Given the description of an element on the screen output the (x, y) to click on. 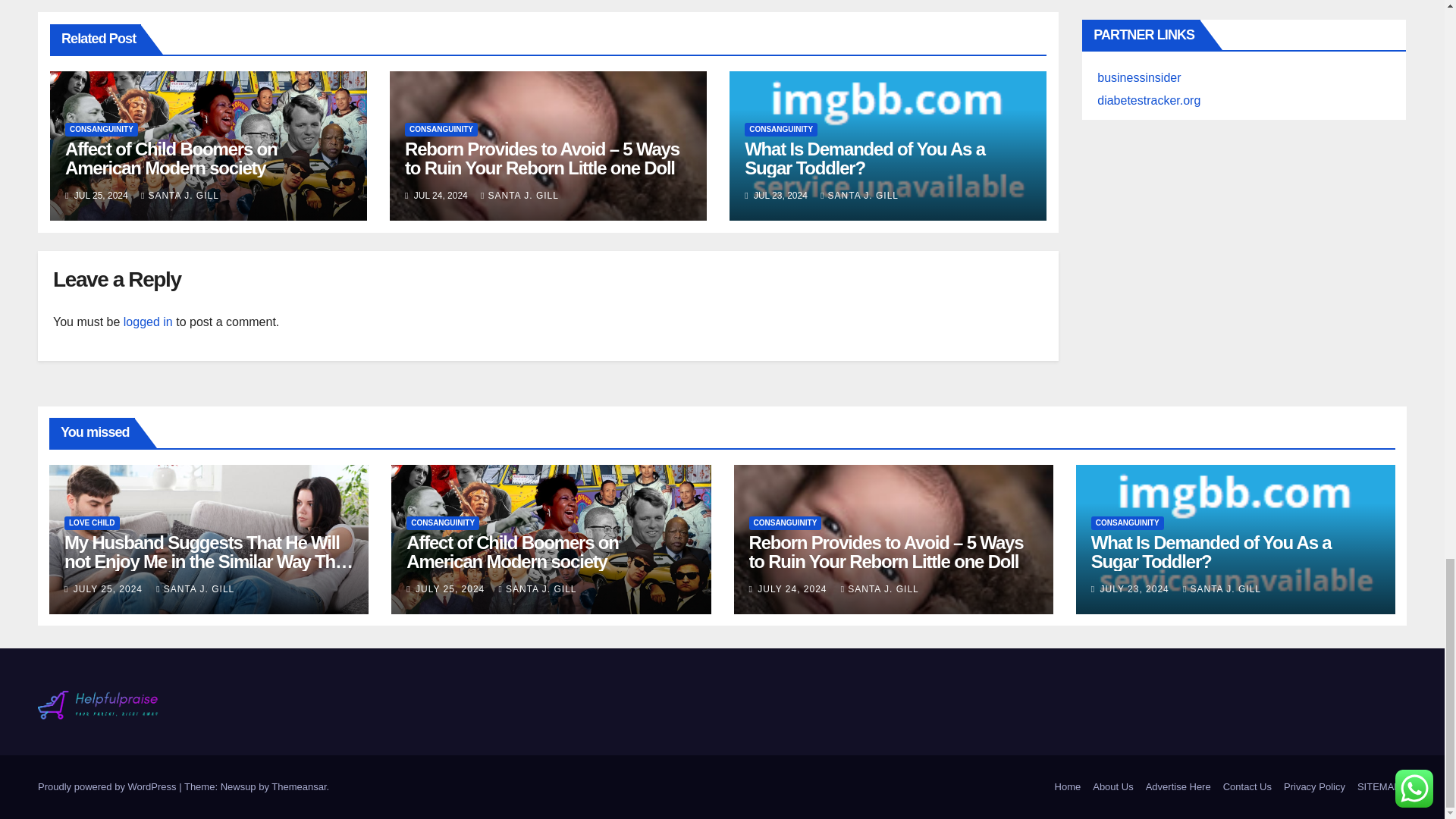
Affect of Child Boomers on American Modern society (170, 158)
CONSANGUINITY (101, 129)
